Given the description of an element on the screen output the (x, y) to click on. 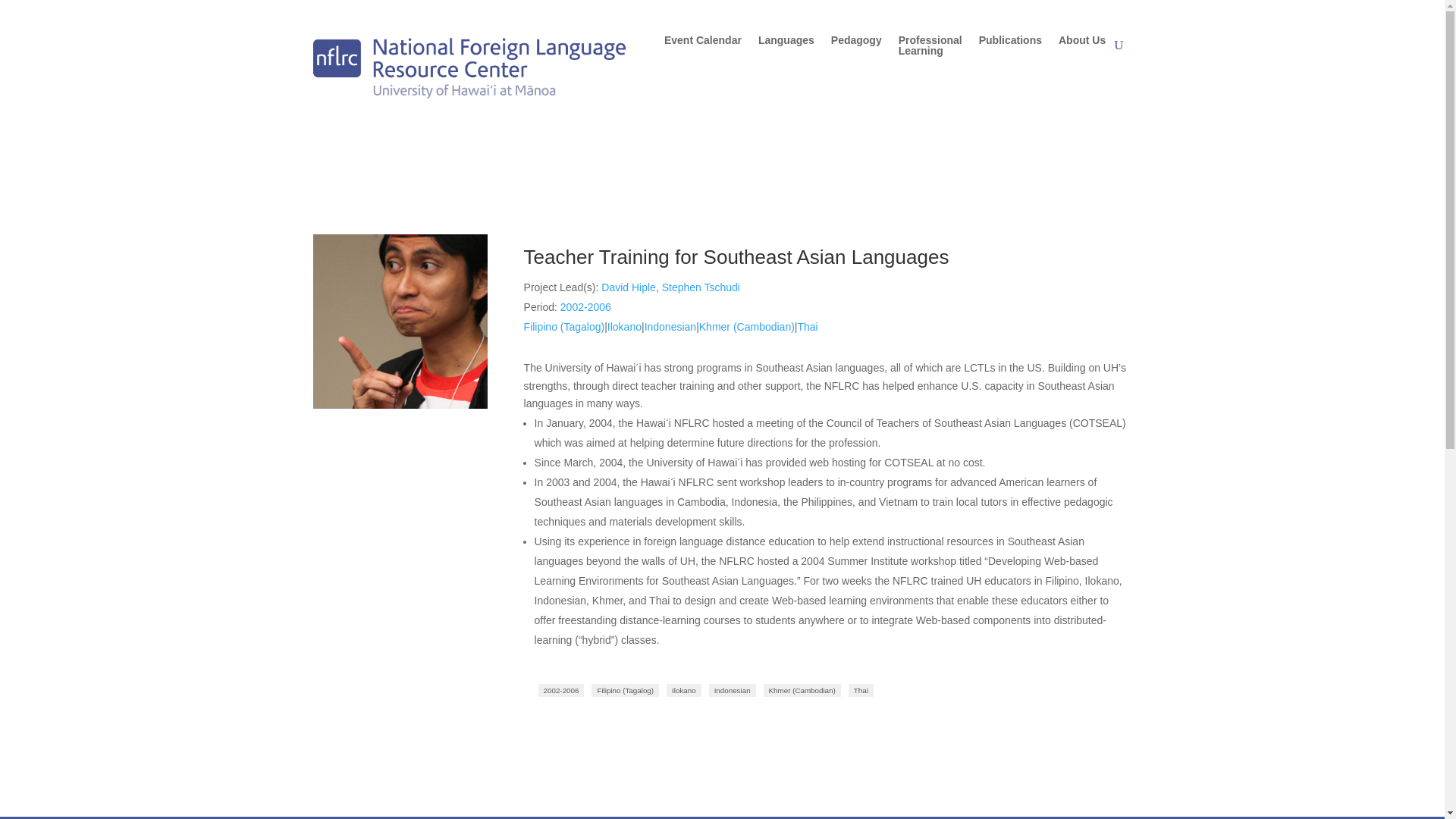
Stephen Tschudi (700, 287)
Ilokano (624, 326)
David Hiple (628, 287)
About Us (1081, 48)
Ilokano (683, 689)
2002-2006 (585, 306)
Publications (1010, 48)
Indonesian (671, 326)
Indonesian (732, 689)
2002-2006 (561, 689)
Thai (806, 326)
Thai (930, 48)
Event Calendar (860, 689)
Pedagogy (702, 48)
